Given the description of an element on the screen output the (x, y) to click on. 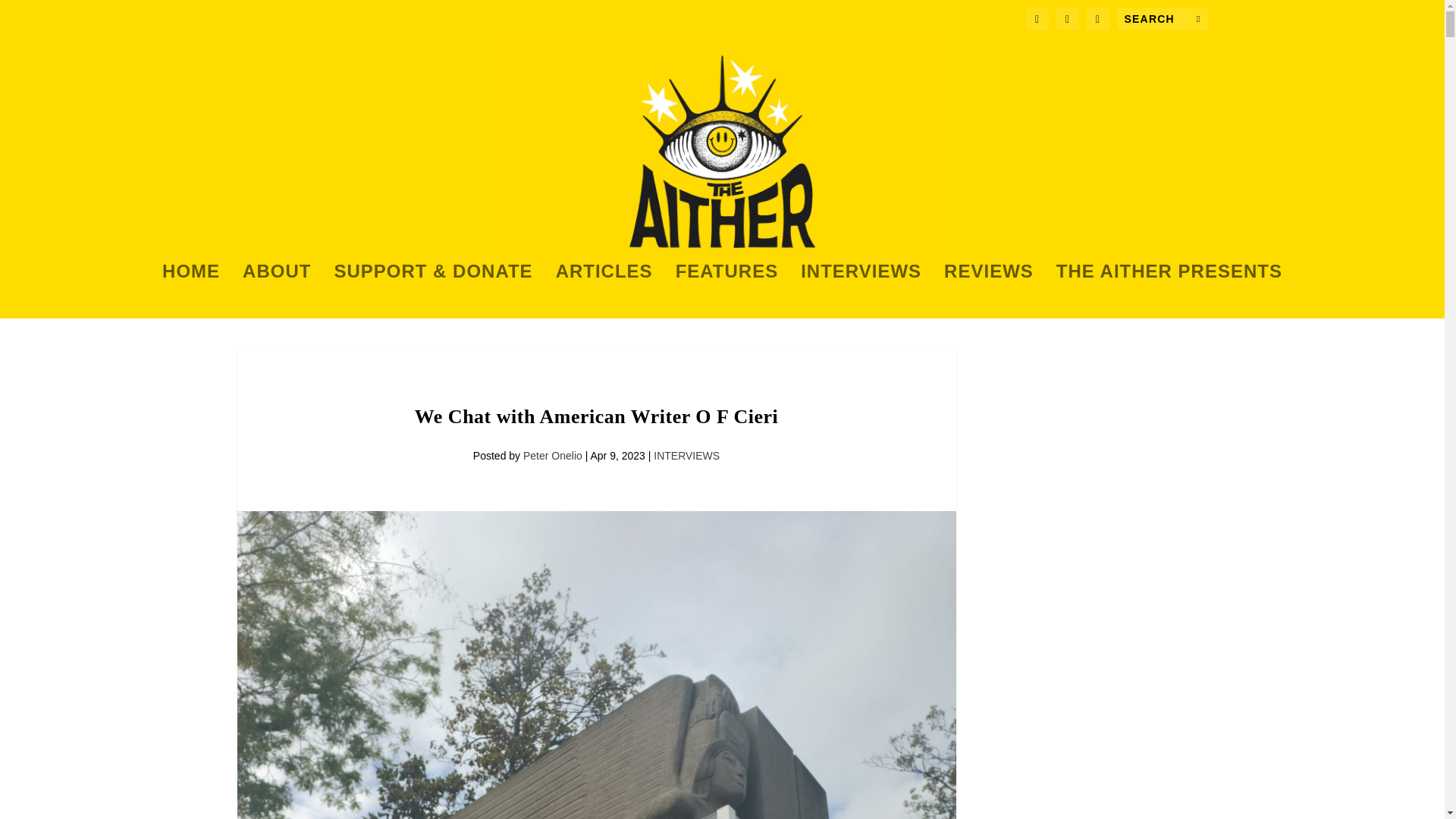
ABOUT (277, 291)
INTERVIEWS (686, 455)
INTERVIEWS (860, 291)
HOME (190, 291)
Posts by Peter Onelio (552, 455)
THE AITHER PRESENTS (1169, 291)
Peter Onelio (552, 455)
ARTICLES (604, 291)
Search for: (1161, 18)
FEATURES (726, 291)
